Given the description of an element on the screen output the (x, y) to click on. 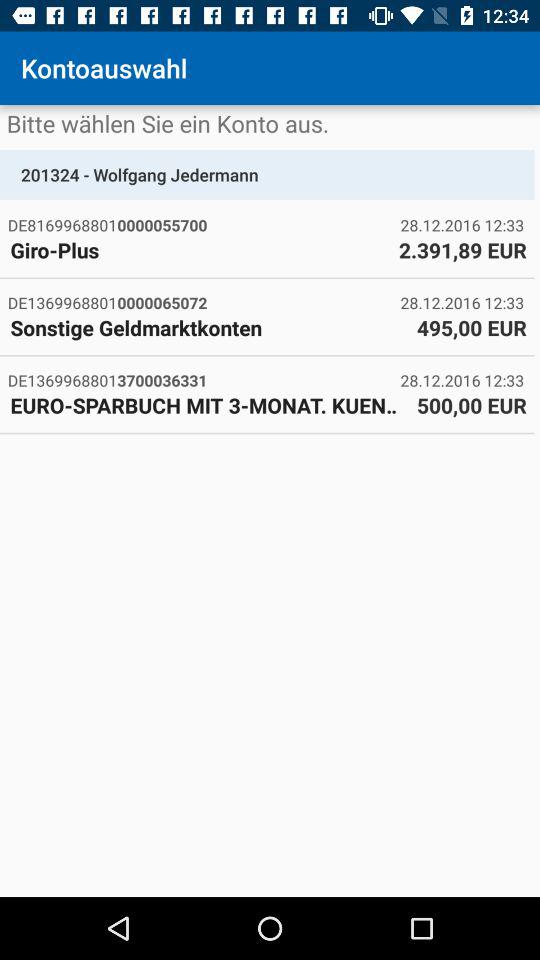
tap icon next to 495,00 eur icon (208, 327)
